Given the description of an element on the screen output the (x, y) to click on. 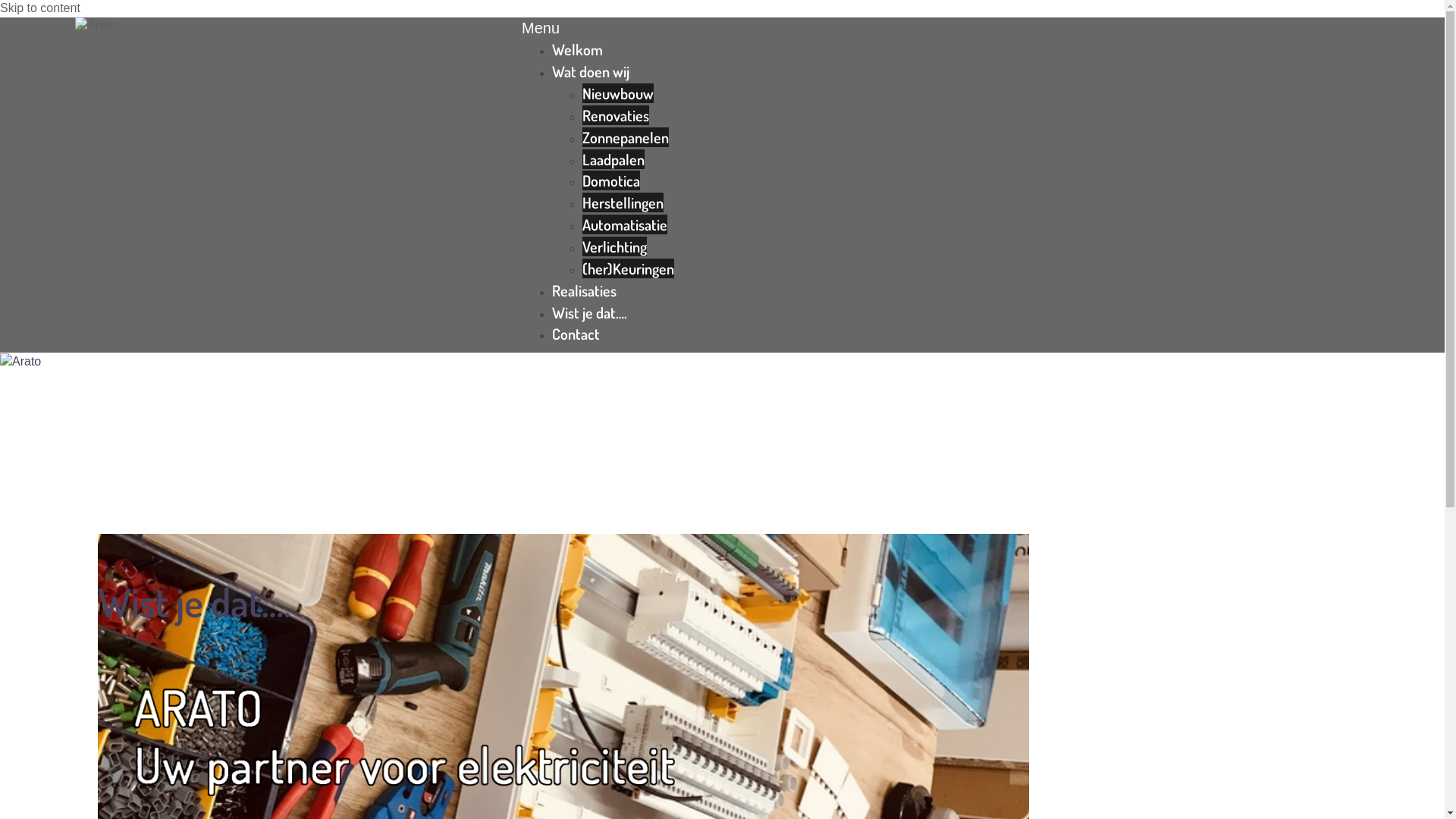
Zonnepanelen Element type: text (625, 137)
Verlichting Element type: text (614, 246)
Herstellingen Element type: text (622, 202)
Laadpalen Element type: text (613, 159)
Nieuwbouw Element type: text (617, 93)
Welkom Element type: text (577, 49)
Skip to content Element type: text (40, 7)
(her)Keuringen Element type: text (628, 268)
Automatisatie Element type: text (624, 224)
Arato Element type: hover (117, 24)
Wat doen wij Element type: text (590, 71)
Arato Element type: hover (20, 361)
Realisaties Element type: text (584, 290)
Domotica Element type: text (611, 180)
Renovaties Element type: text (615, 115)
Contact Element type: text (575, 333)
